Given the description of an element on the screen output the (x, y) to click on. 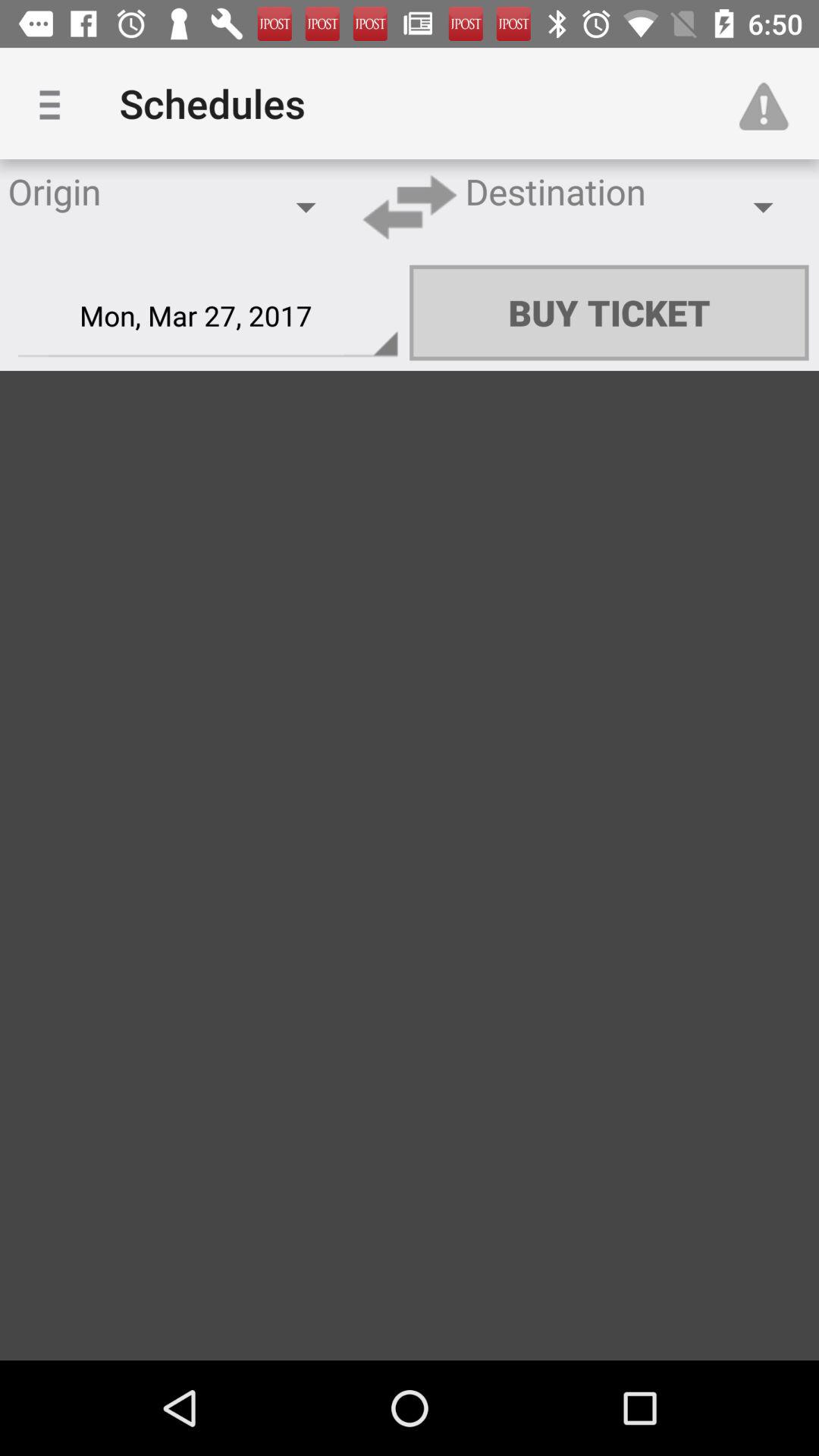
scroll to buy ticket (608, 312)
